Given the description of an element on the screen output the (x, y) to click on. 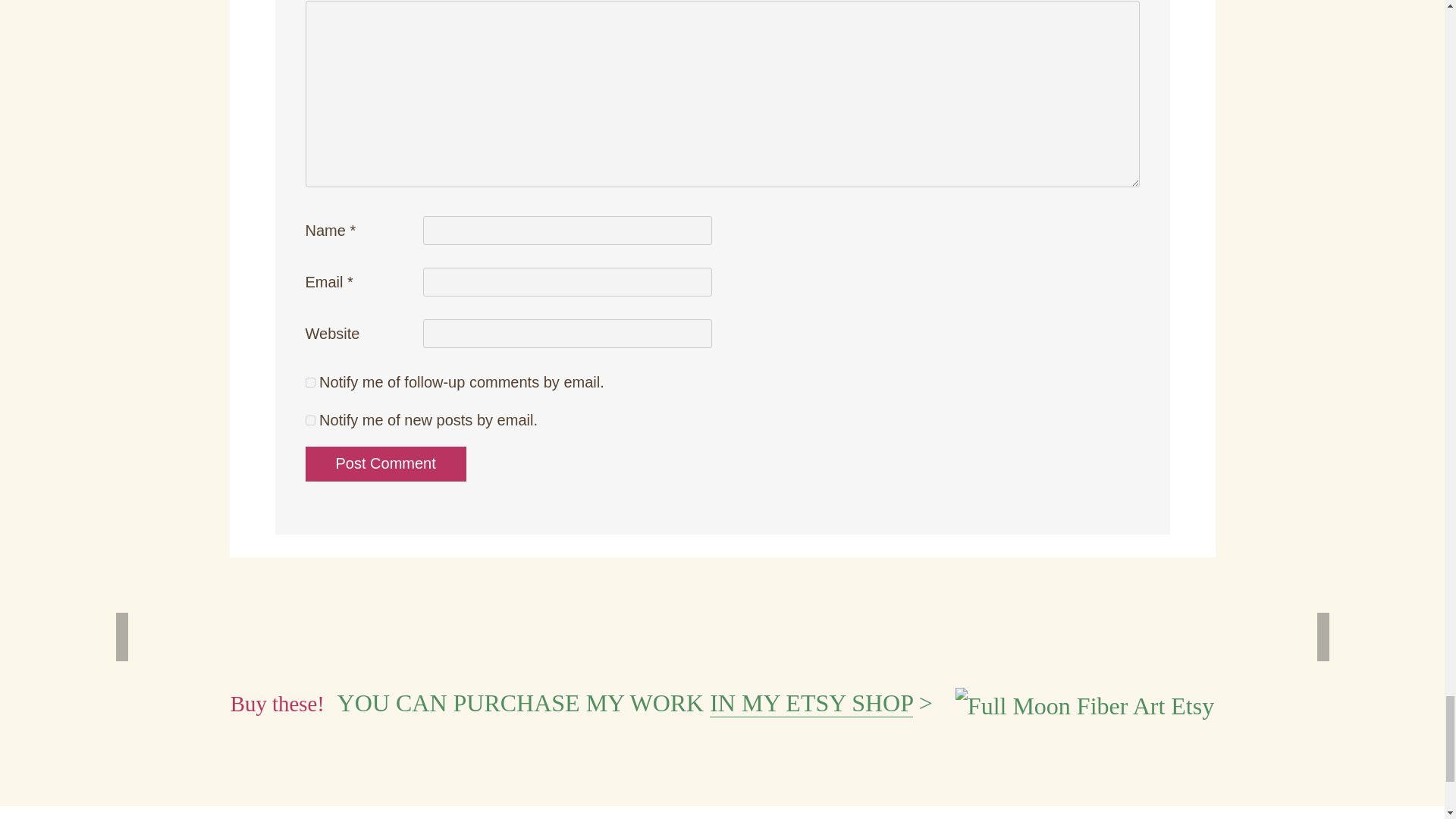
subscribe (309, 382)
subscribe (309, 420)
Post Comment (384, 463)
